Given the description of an element on the screen output the (x, y) to click on. 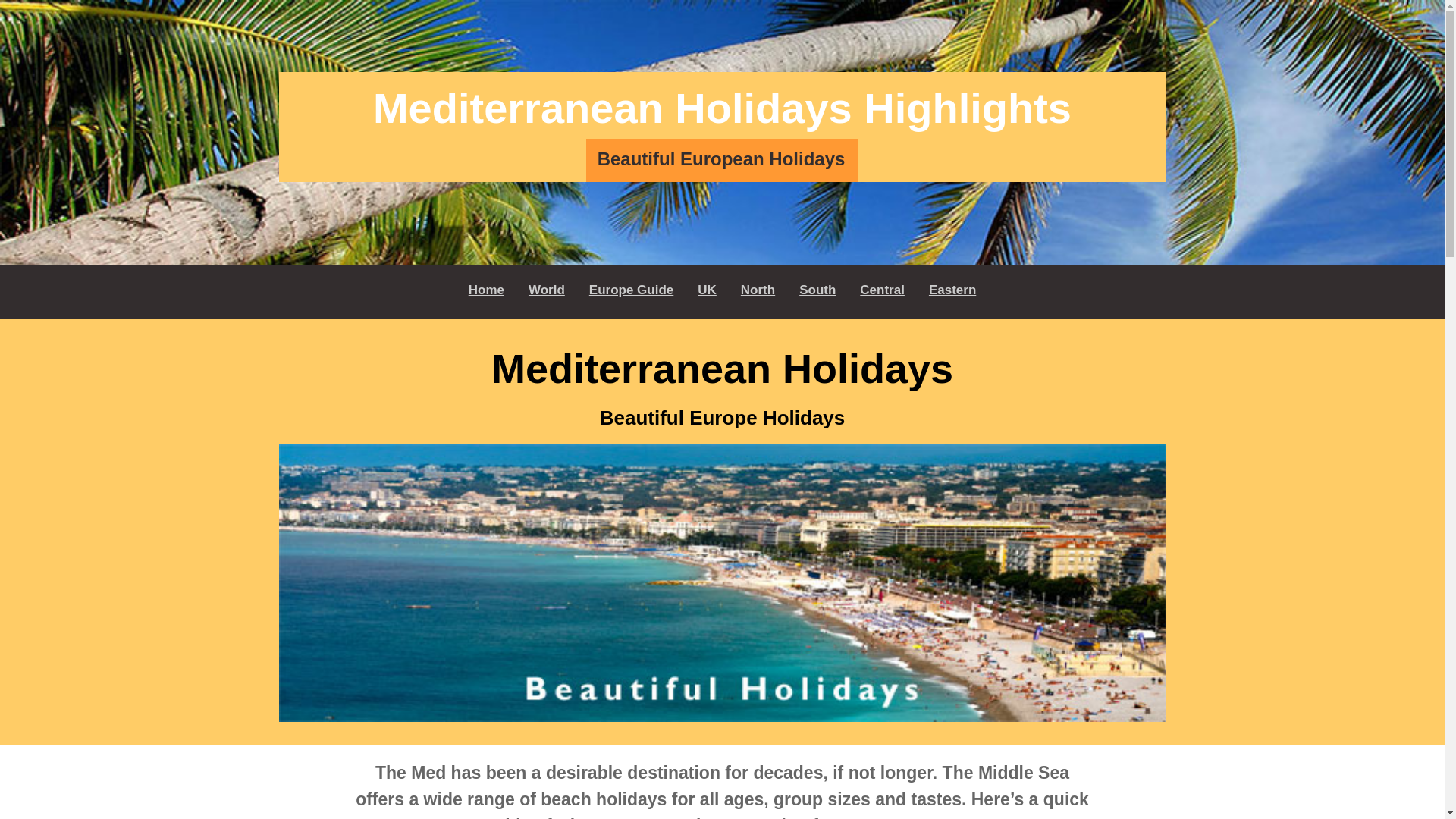
UK (706, 290)
World (546, 290)
North (758, 290)
Beautiful European Holidays (722, 159)
Home (486, 290)
Europe Guide (630, 290)
